Given the description of an element on the screen output the (x, y) to click on. 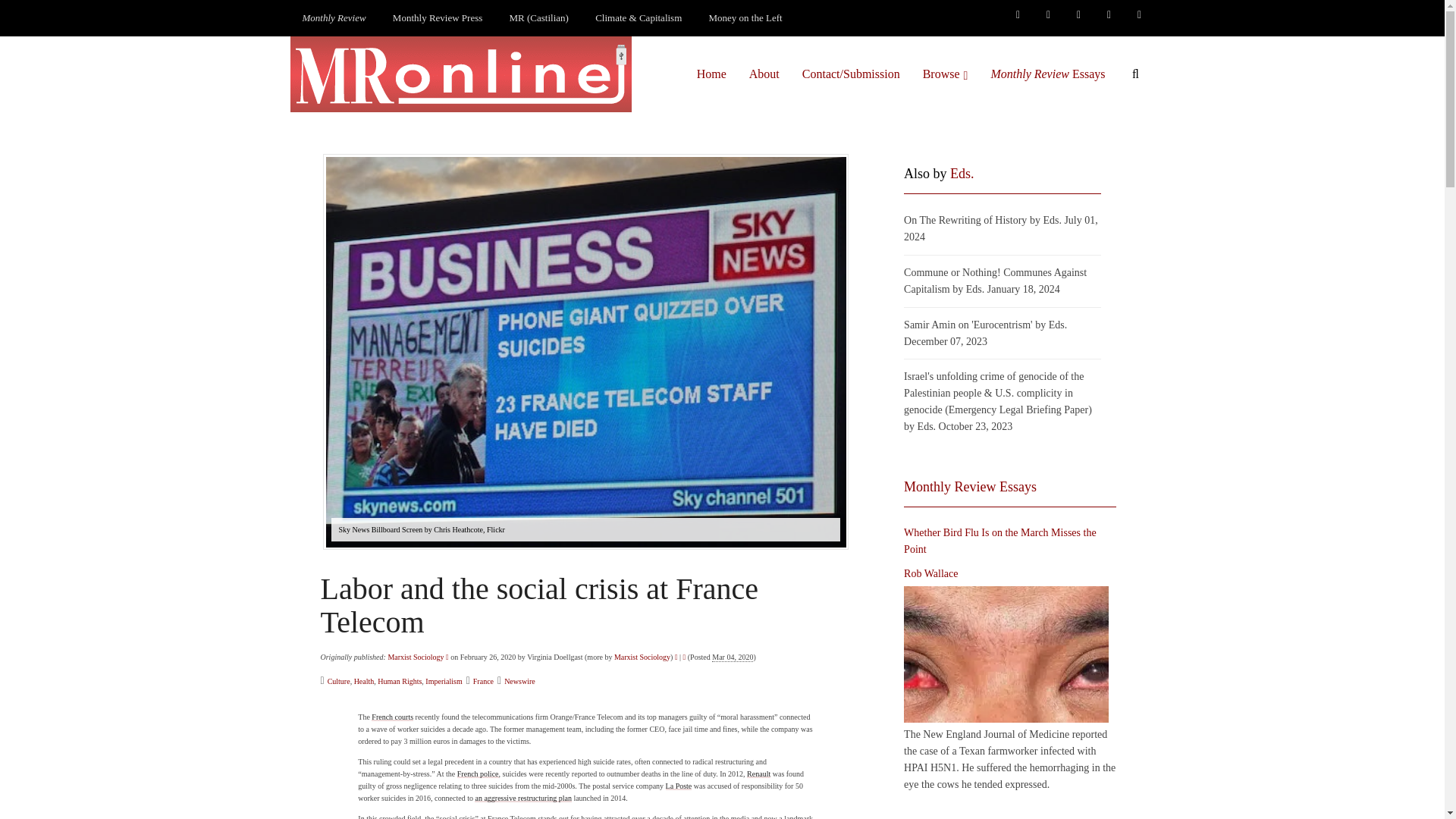
Browse (945, 74)
Monthly Review (333, 18)
Monthly Review Press (437, 18)
Monthly Review Magazine (333, 18)
Whether Bird Flu Is on the March Misses the Point (1006, 654)
Posts by Rob Wallace (931, 573)
Money on the Left (745, 18)
